Given the description of an element on the screen output the (x, y) to click on. 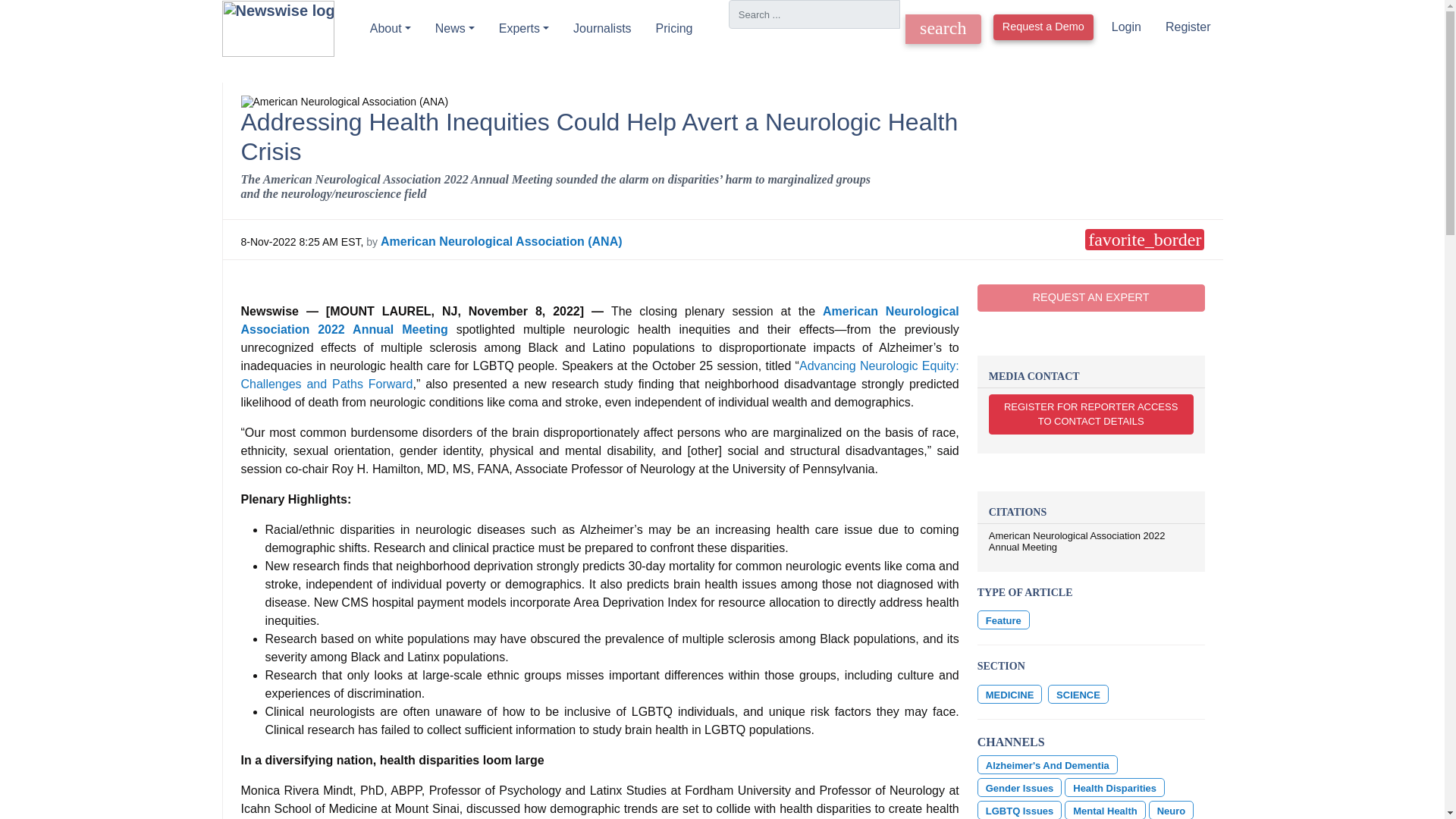
News (454, 28)
Feature (1002, 619)
Add to Favorites (1144, 239)
Show all articles in this channel (1078, 693)
About (390, 28)
Show all articles in this channel (1009, 693)
Show all articles in this channel (1019, 787)
Show all articles in this channel (1047, 764)
Newswise logo (277, 28)
